Given the description of an element on the screen output the (x, y) to click on. 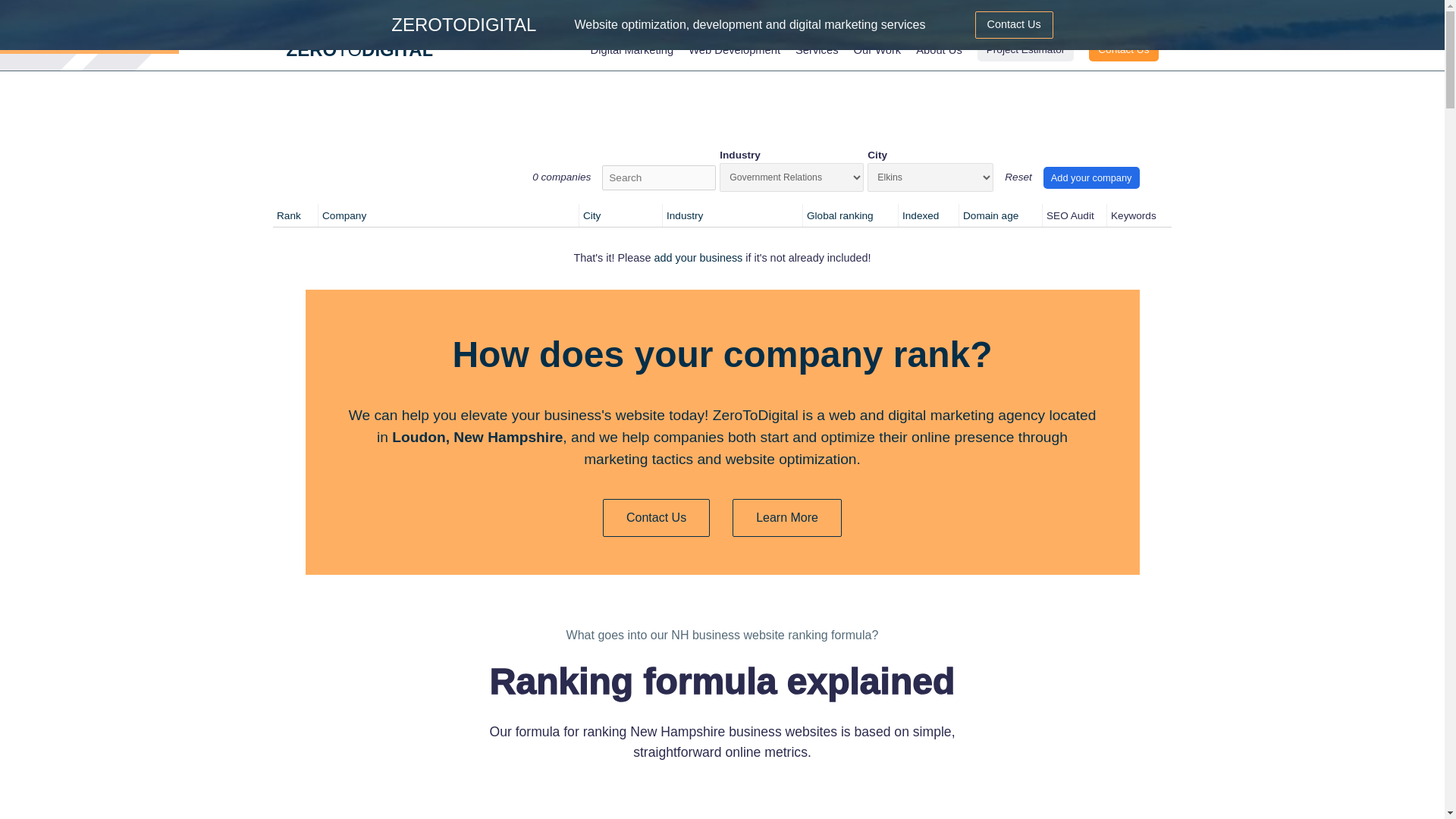
monthly newsletter (750, 14)
Digital Marketing (632, 49)
About Us (938, 49)
Project Estimator (1025, 49)
Web Development (734, 49)
Contact Us (1123, 49)
ZEROTODIGITAL (463, 24)
Services (816, 49)
ZEROTODIGITAL (359, 49)
Our Work (877, 49)
